Given the description of an element on the screen output the (x, y) to click on. 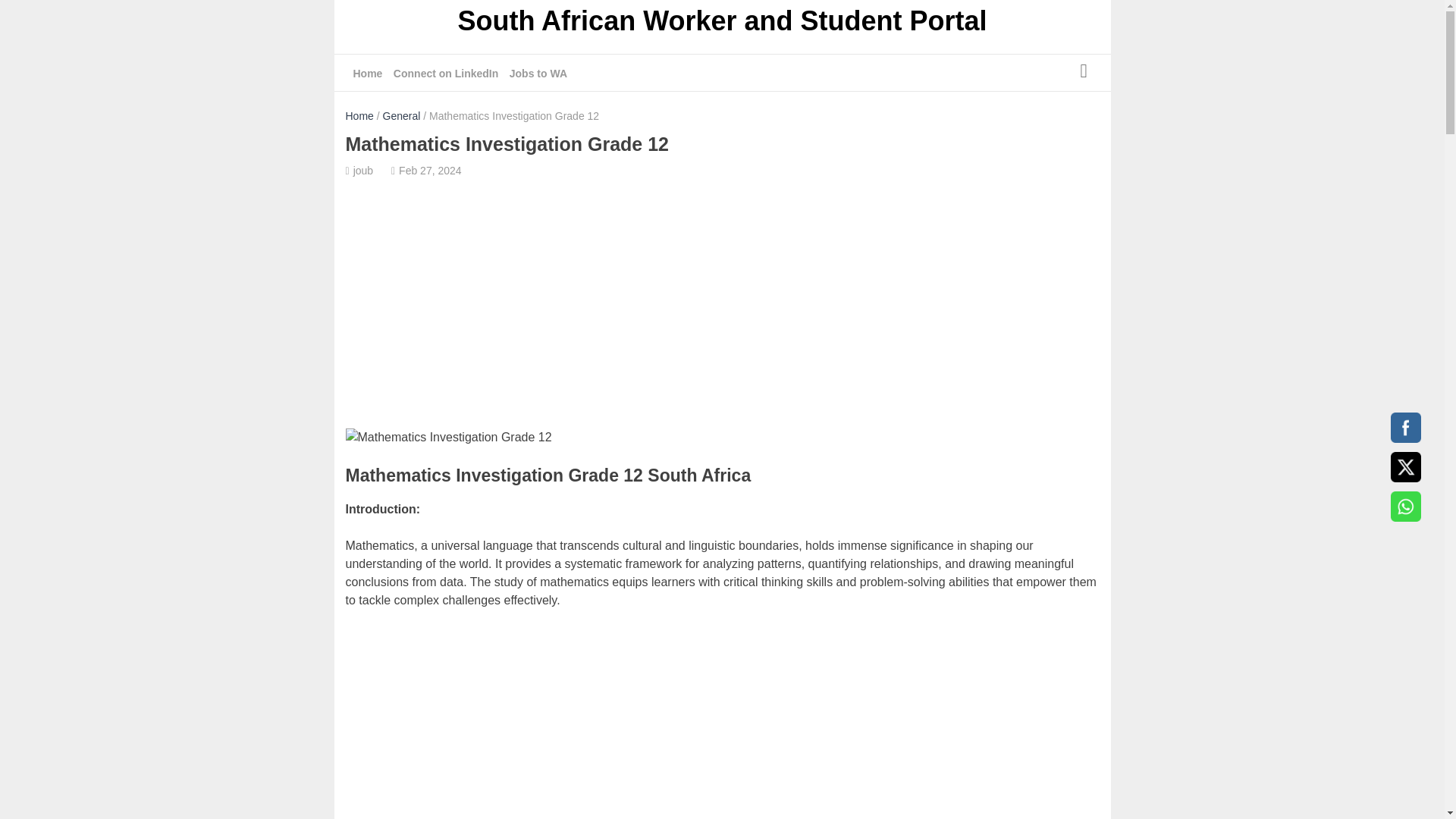
Twitter (1405, 467)
Home (360, 115)
General (401, 115)
Facebook (1405, 427)
South African Worker and Student Portal (721, 22)
Jobs to WA (538, 73)
WhatsApp (1405, 506)
Connect on LinkedIn (445, 73)
